Given the description of an element on the screen output the (x, y) to click on. 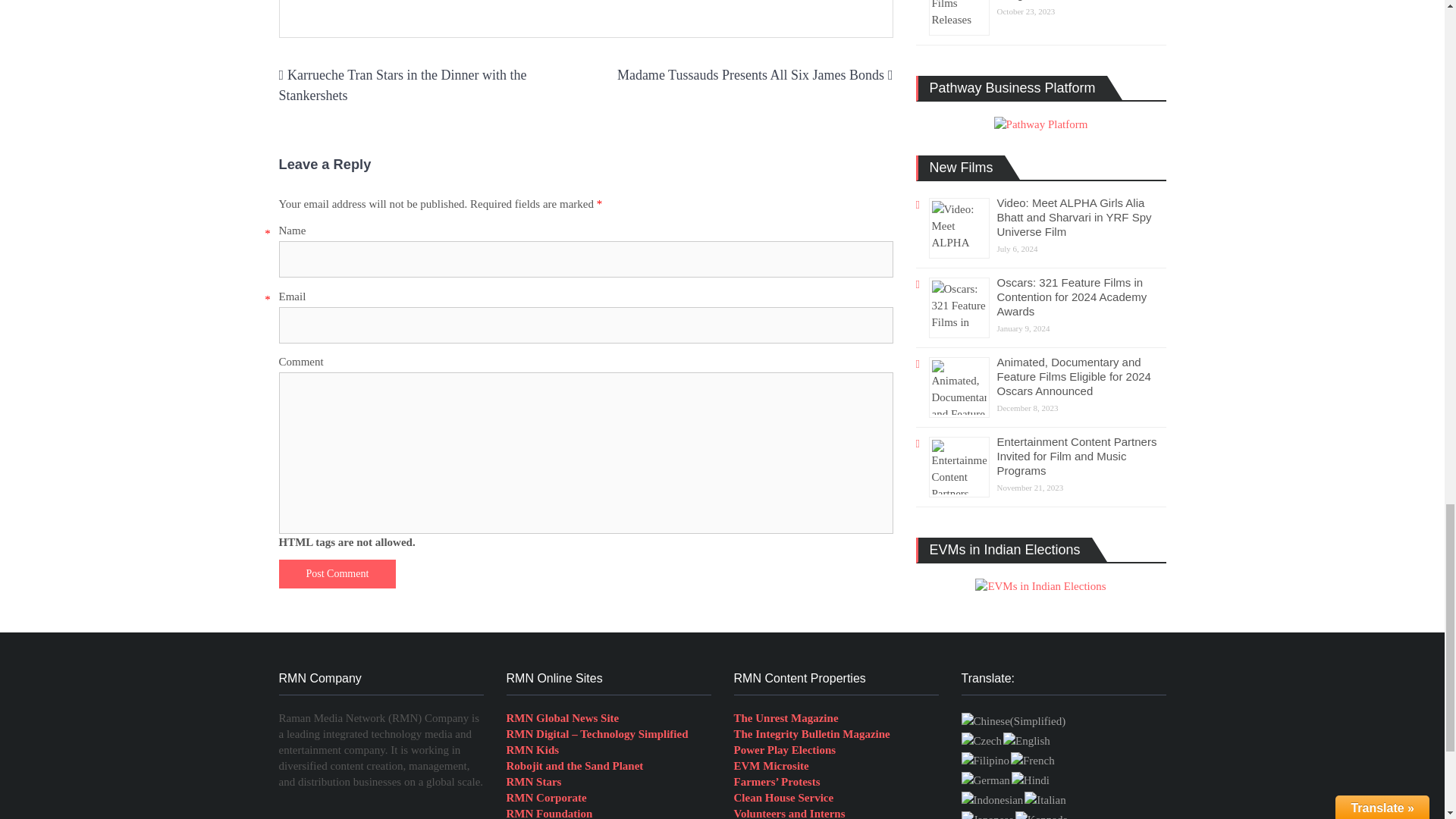
Post Comment (337, 573)
